Given the description of an element on the screen output the (x, y) to click on. 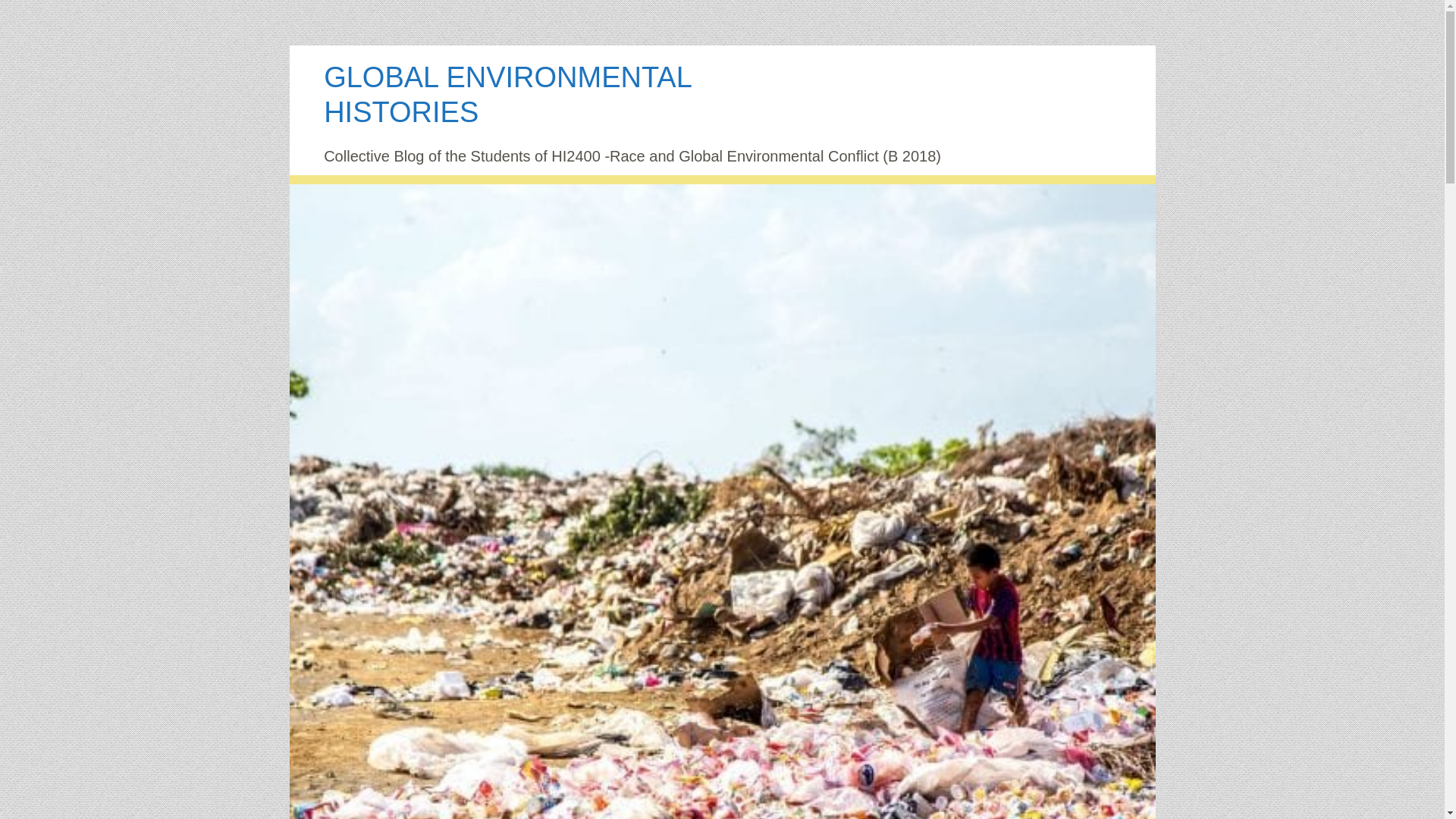
Search (39, 19)
GLOBAL ENVIRONMENTAL HISTORIES (506, 94)
